Given the description of an element on the screen output the (x, y) to click on. 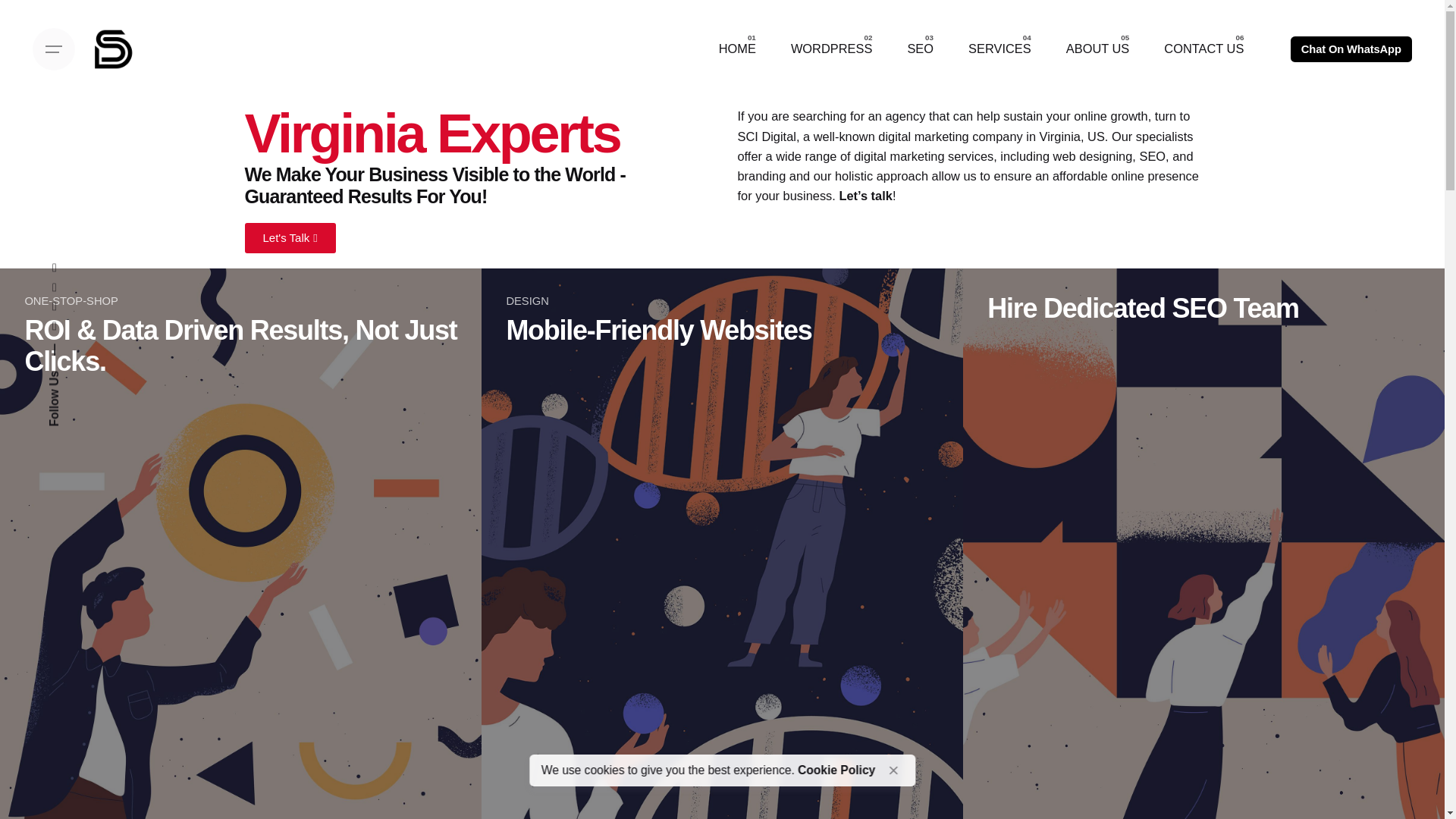
CONTACT US (1203, 49)
HOME (737, 49)
WORDPRESS (831, 49)
SEO (919, 49)
ABOUT US (1097, 49)
Let's Talk with Website Marketing Professionals (864, 195)
SERVICES (999, 49)
